Given the description of an element on the screen output the (x, y) to click on. 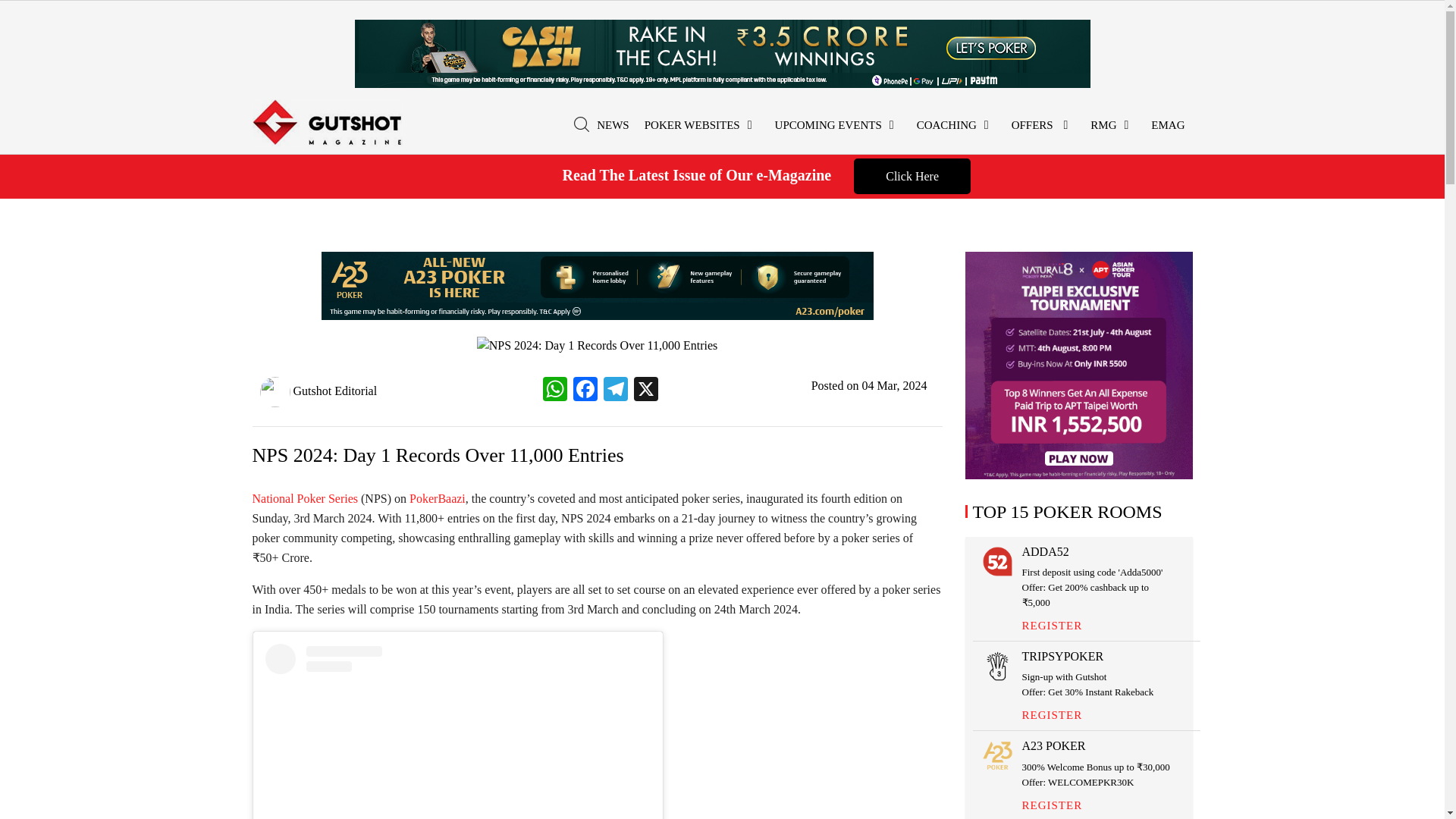
NEWS (612, 125)
RMG (1112, 125)
COACHING (956, 125)
OFFERS (1043, 125)
X (645, 390)
National Poker Series (304, 498)
EMAG (1168, 125)
Facebook (584, 390)
Telegram (614, 390)
Click Here (912, 176)
Facebook (584, 390)
WhatsApp (555, 390)
A23 Poker (597, 284)
POKER WEBSITES (702, 125)
WhatsApp (555, 390)
